Given the description of an element on the screen output the (x, y) to click on. 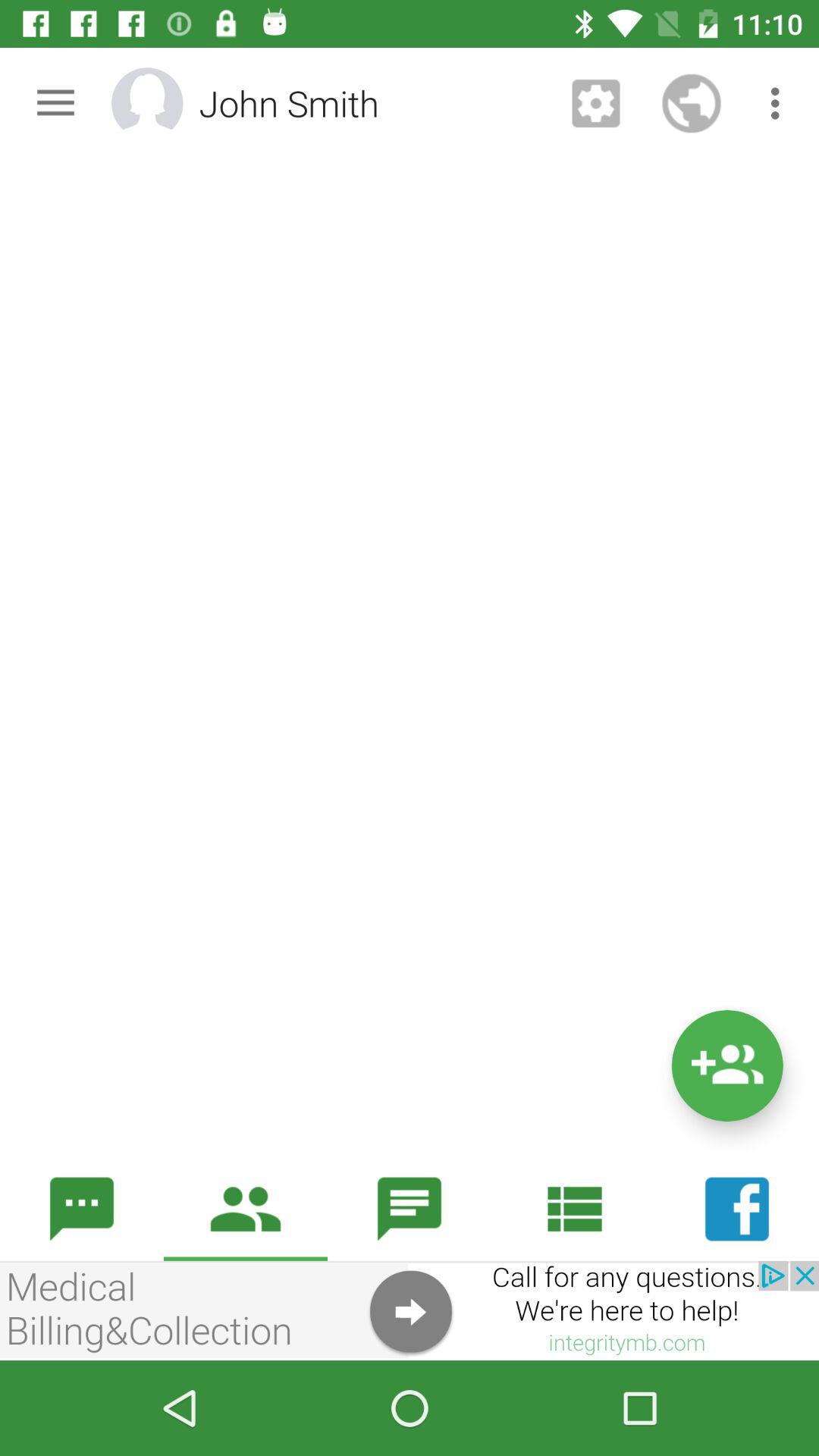
click to change profile photo (166, 103)
